Given the description of an element on the screen output the (x, y) to click on. 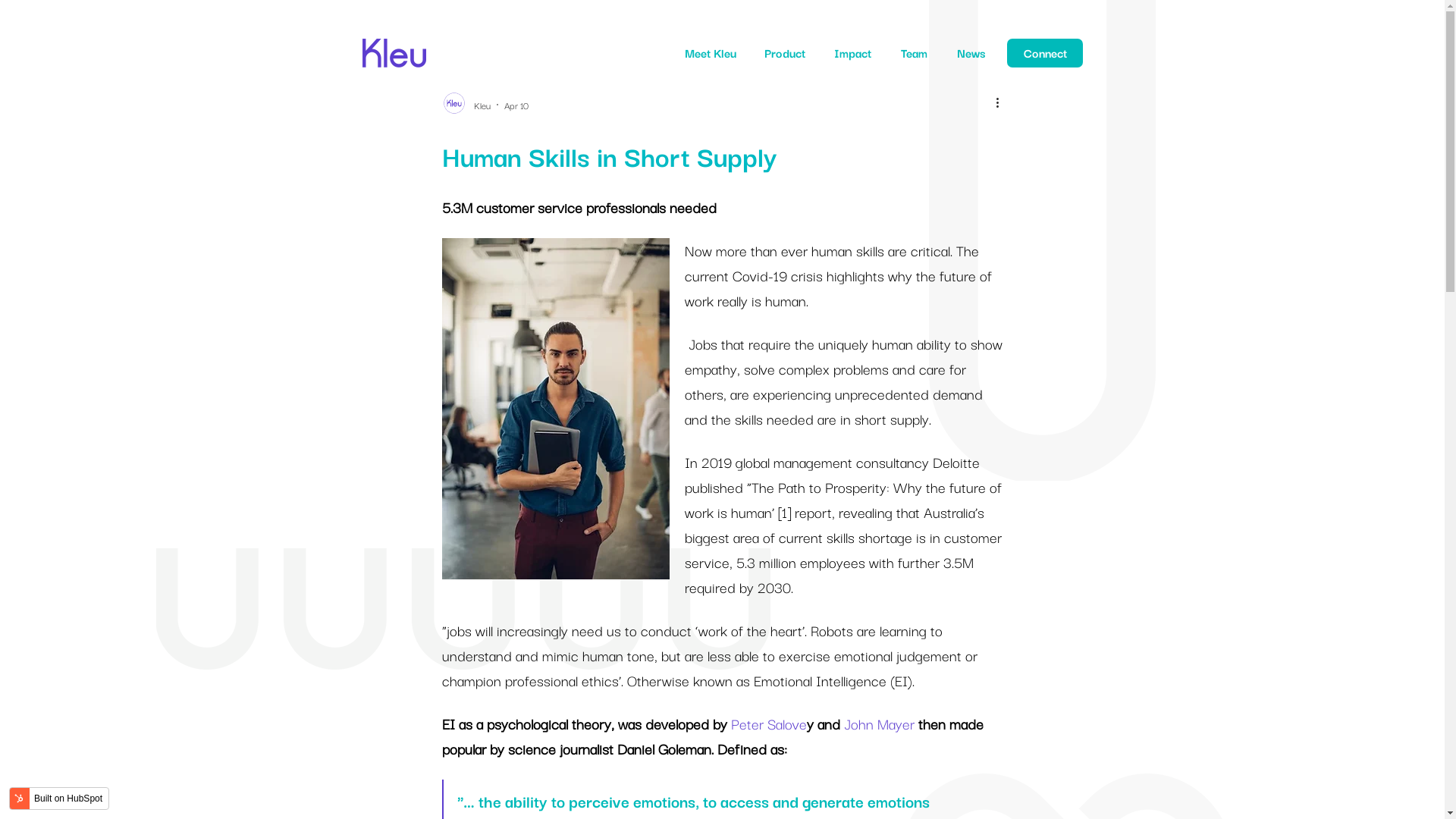
News Element type: text (971, 52)
Meet Kleu Element type: text (710, 52)
Connect Element type: text (1044, 52)
Kleu Element type: text (481, 104)
KleuAustralia Element type: hover (394, 44)
Product Element type: text (784, 52)
Impact Element type: text (852, 52)
Team Element type: text (913, 52)
